Given the description of an element on the screen output the (x, y) to click on. 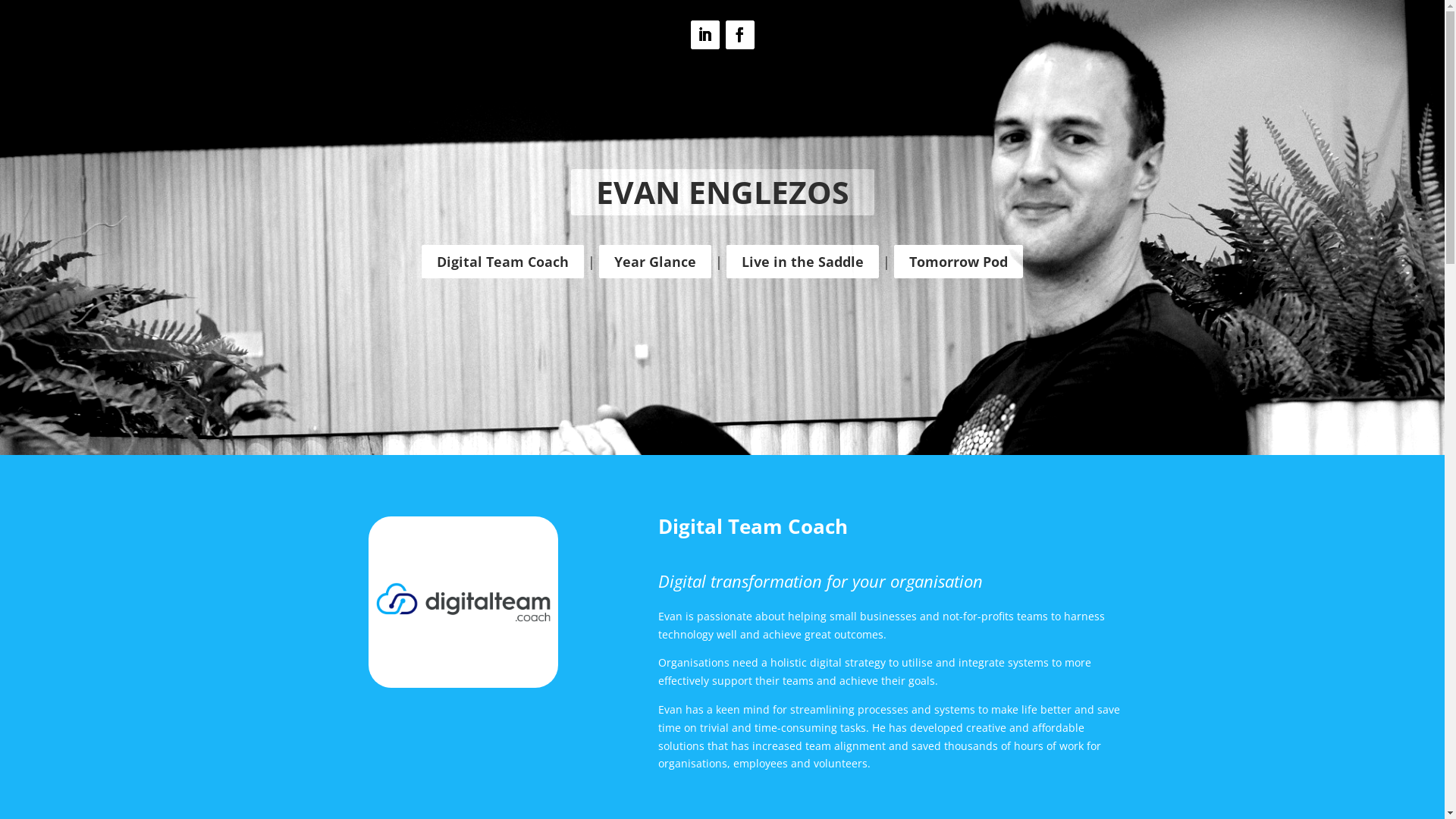
Digital Team Coach Element type: hover (463, 601)
Follow on LinkedIn Element type: hover (704, 34)
Year Glance Element type: text (655, 261)
Follow on Facebook Element type: hover (738, 34)
Digital Team Coach Element type: text (502, 261)
Tomorrow Pod Element type: text (958, 261)
Live in the Saddle Element type: text (802, 261)
